Given the description of an element on the screen output the (x, y) to click on. 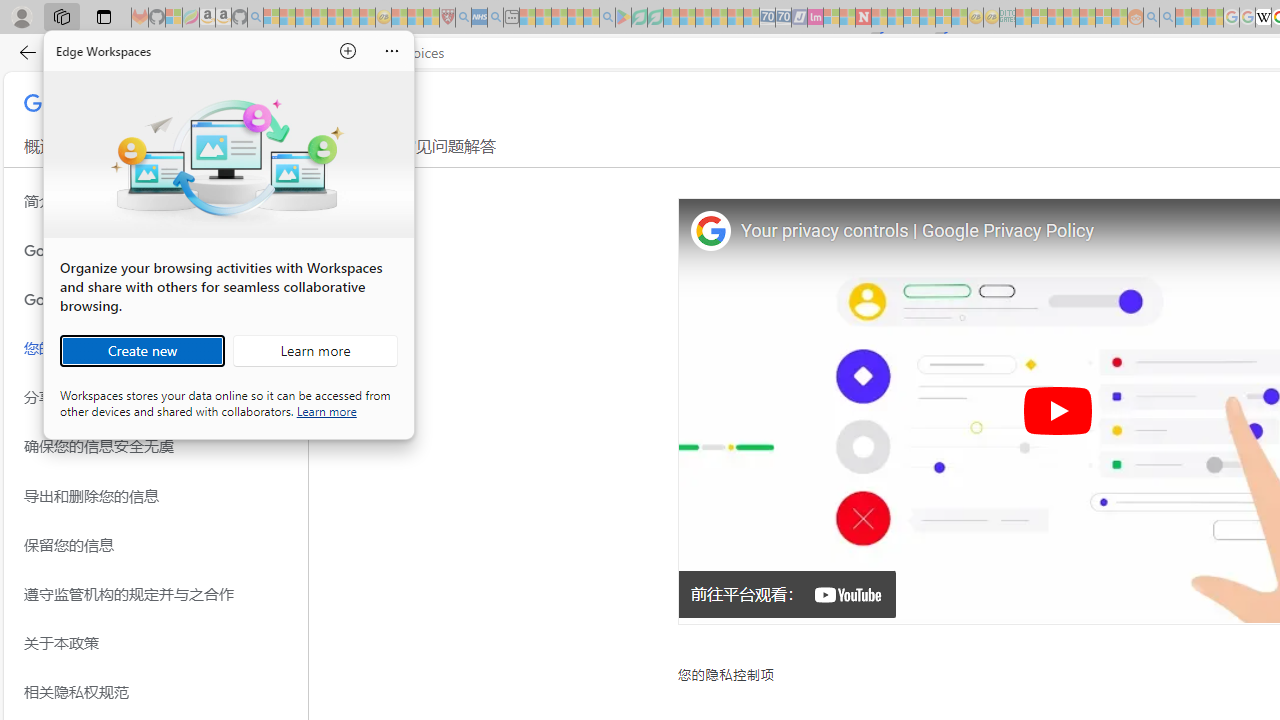
Learn more about Workspaces (315, 350)
